Given the description of an element on the screen output the (x, y) to click on. 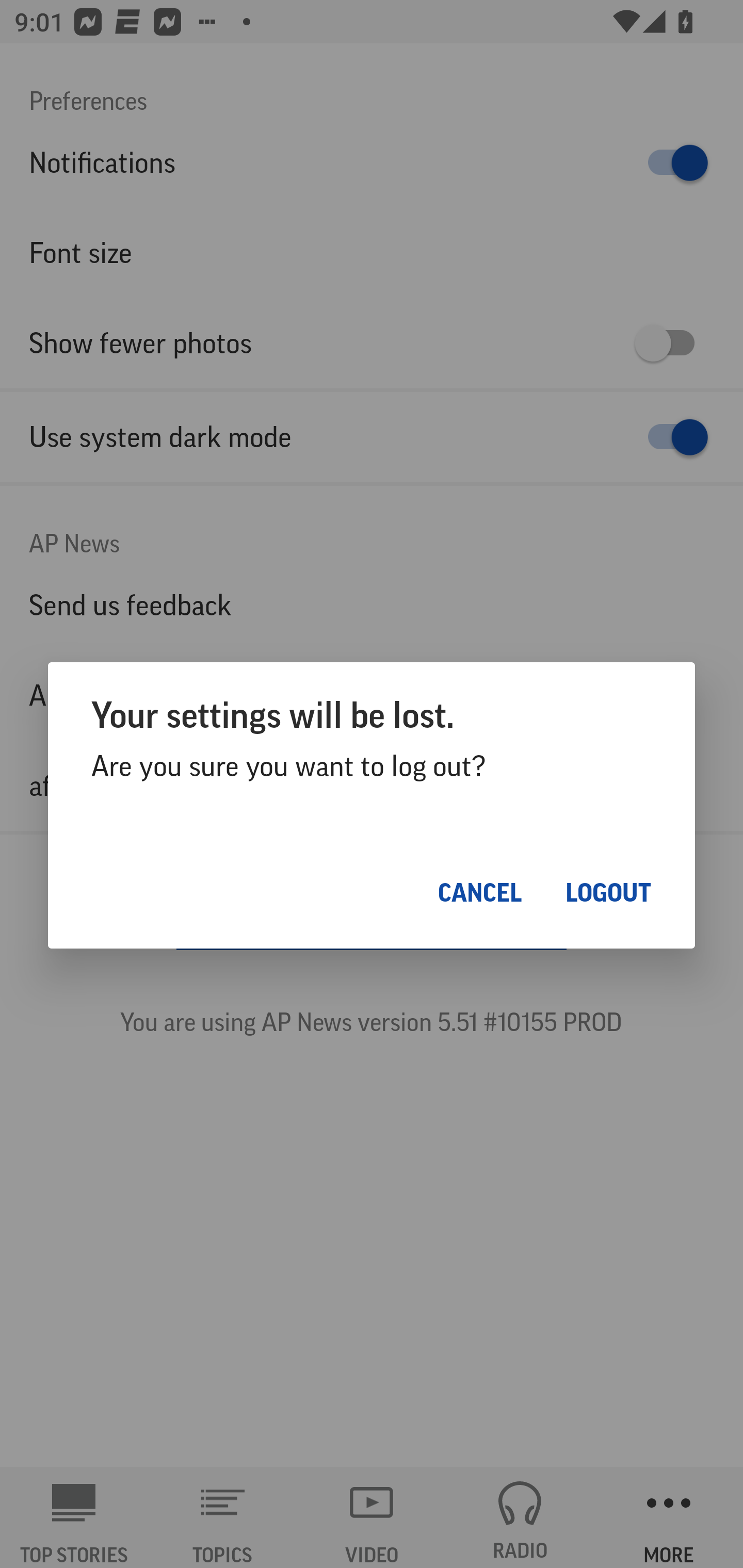
CANCEL (479, 891)
LOGOUT (608, 891)
